Given the description of an element on the screen output the (x, y) to click on. 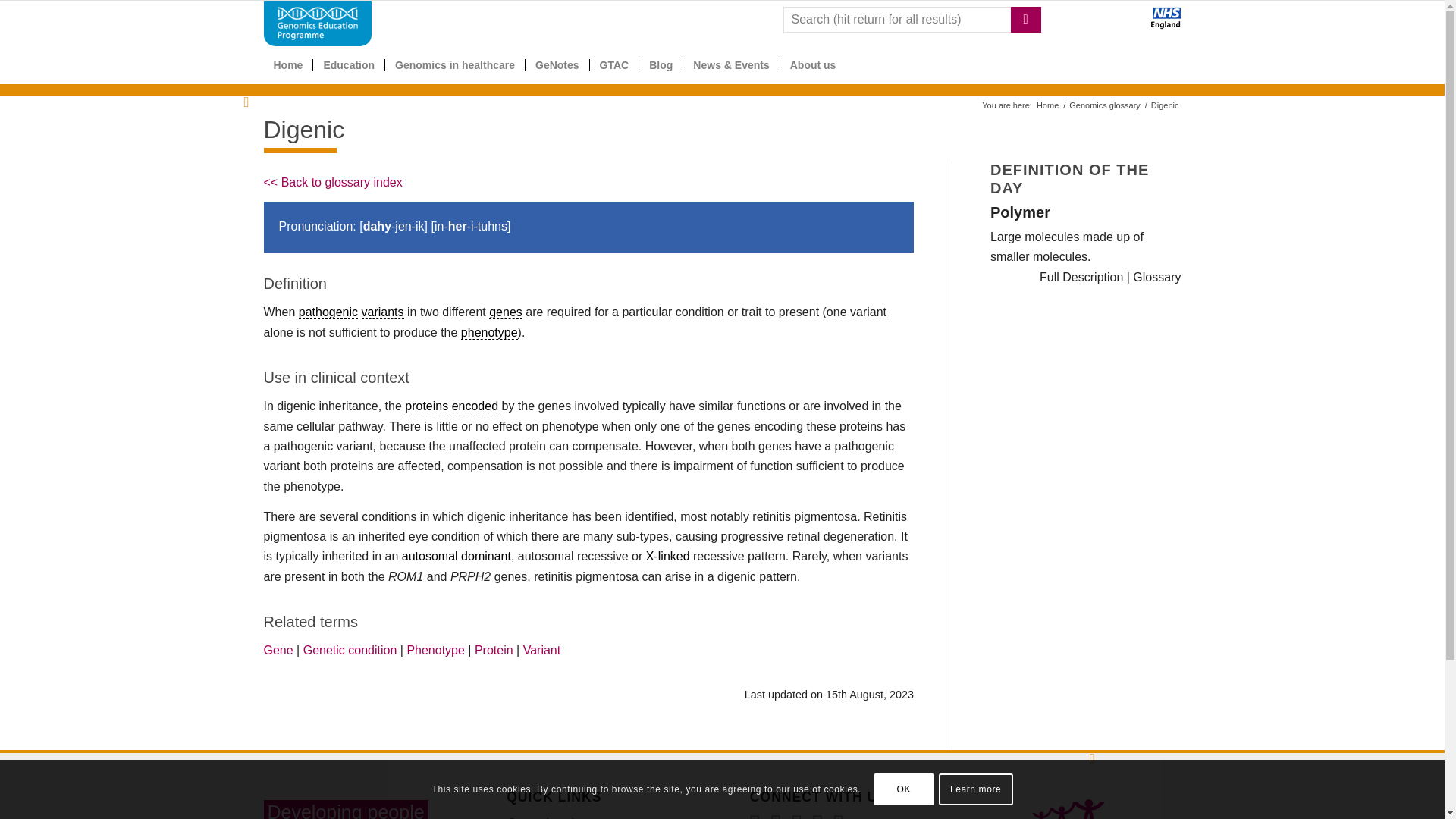
Genomics in Healthcare (454, 64)
Education (348, 64)
About us (811, 64)
GTAC (614, 64)
GeNotes (556, 64)
Genomics in healthcare (454, 64)
Blog (660, 64)
Permanent Link: Digenic (304, 129)
Genomics Education Programme (1047, 105)
Genomics glossary (1104, 105)
Genomics Education Programme Home (288, 64)
Home (288, 64)
Health Education England (1125, 24)
